Given the description of an element on the screen output the (x, y) to click on. 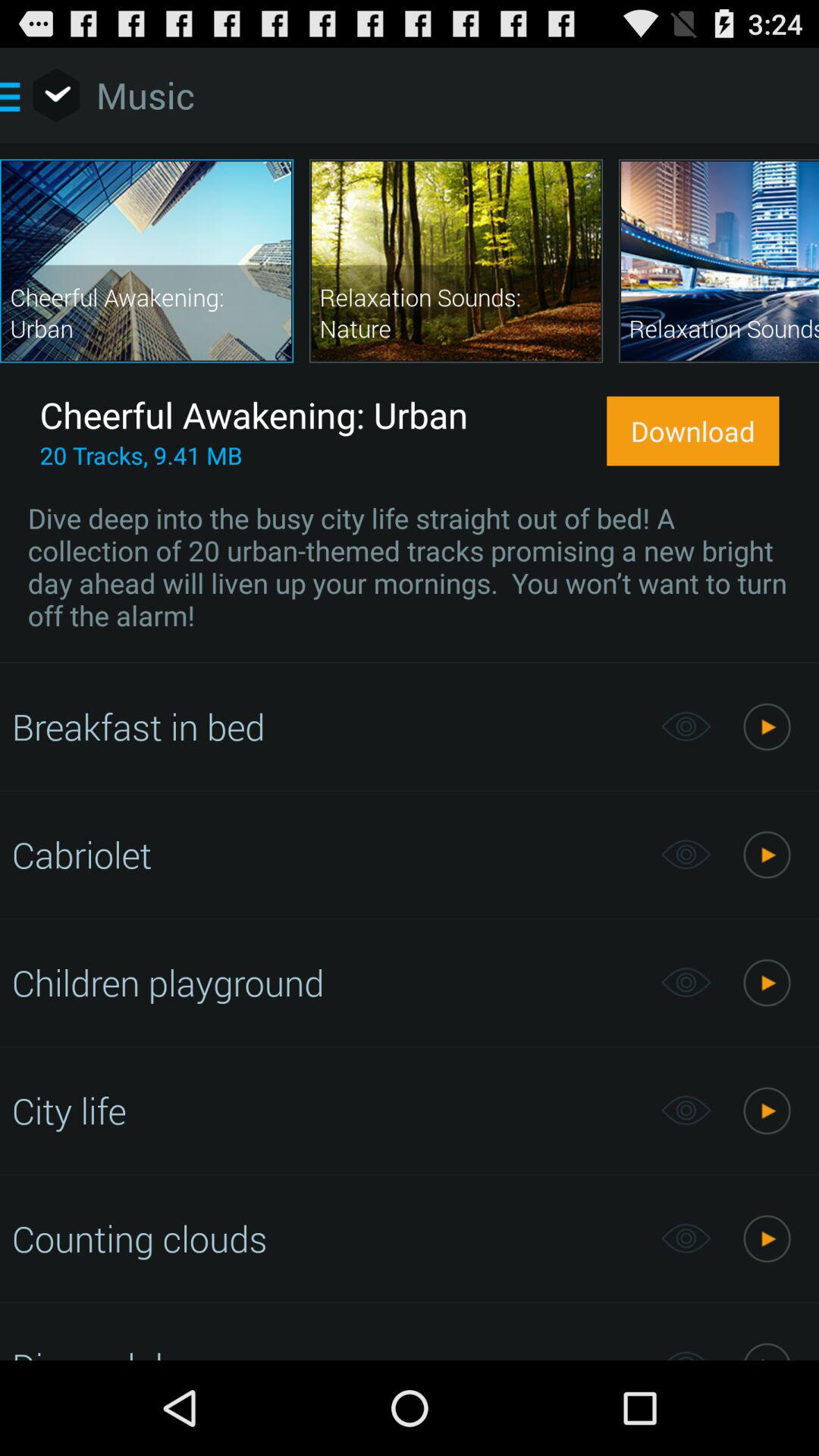
flip to the cabriolet icon (327, 854)
